Given the description of an element on the screen output the (x, y) to click on. 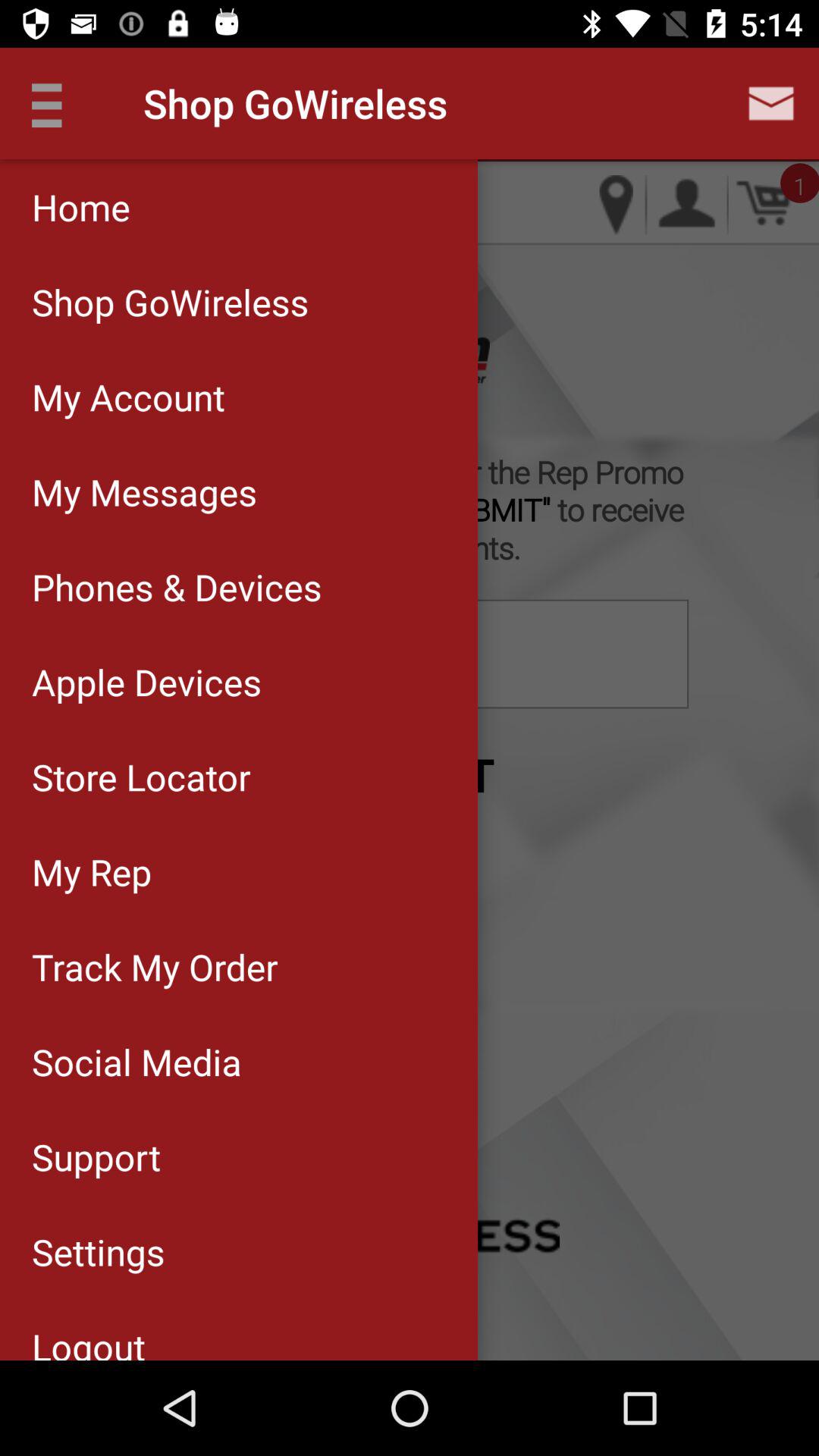
tap the item next to shop gowireless (55, 103)
